Given the description of an element on the screen output the (x, y) to click on. 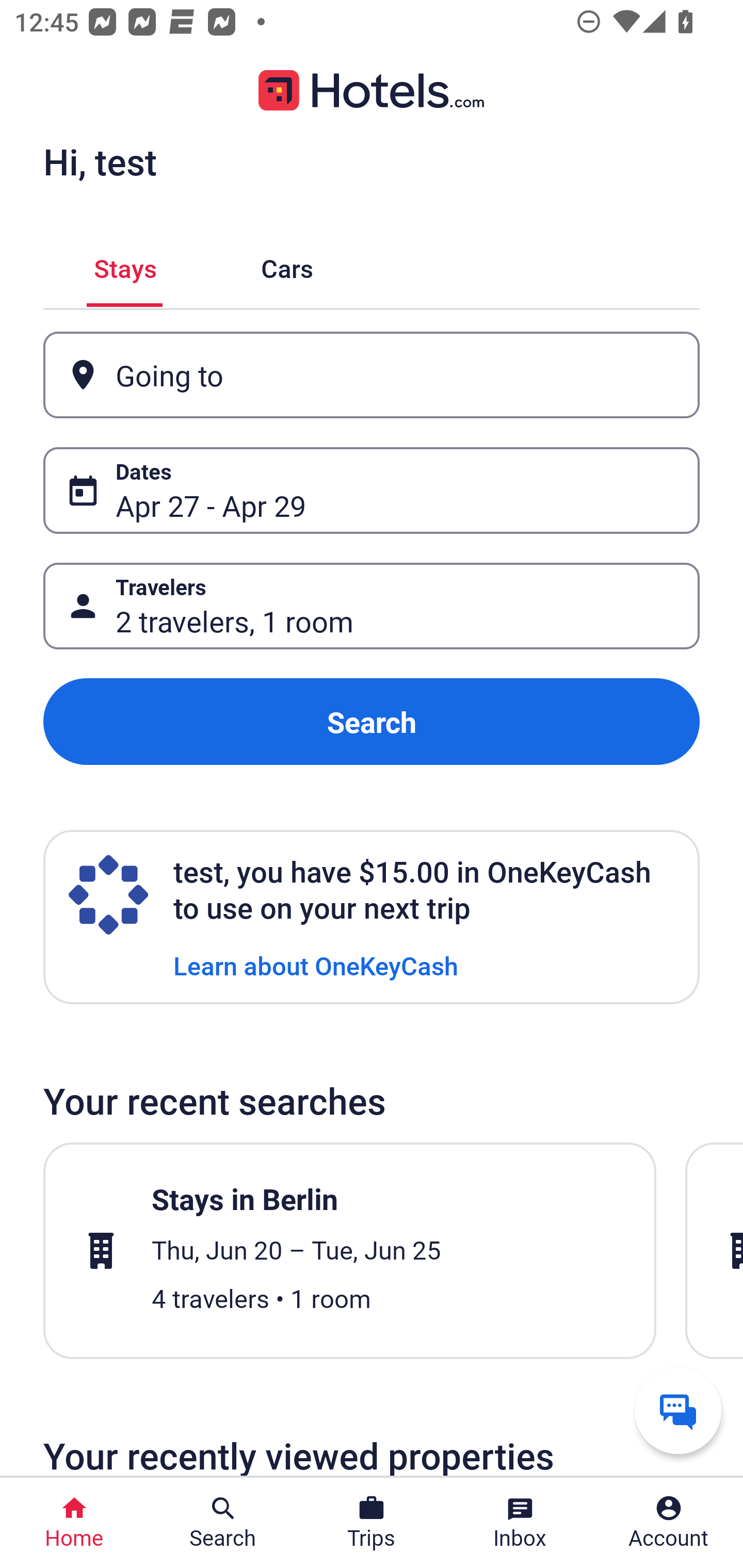
Hi, test (99, 161)
Cars (286, 265)
Going to Button (371, 375)
Dates Button Apr 27 - Apr 29 (371, 489)
Travelers Button 2 travelers, 1 room (371, 605)
Search (371, 721)
Learn about OneKeyCash Learn about OneKeyCash Link (315, 964)
Get help from a virtual agent (677, 1410)
Search Search Button (222, 1522)
Trips Trips Button (371, 1522)
Inbox Inbox Button (519, 1522)
Account Profile. Button (668, 1522)
